Given the description of an element on the screen output the (x, y) to click on. 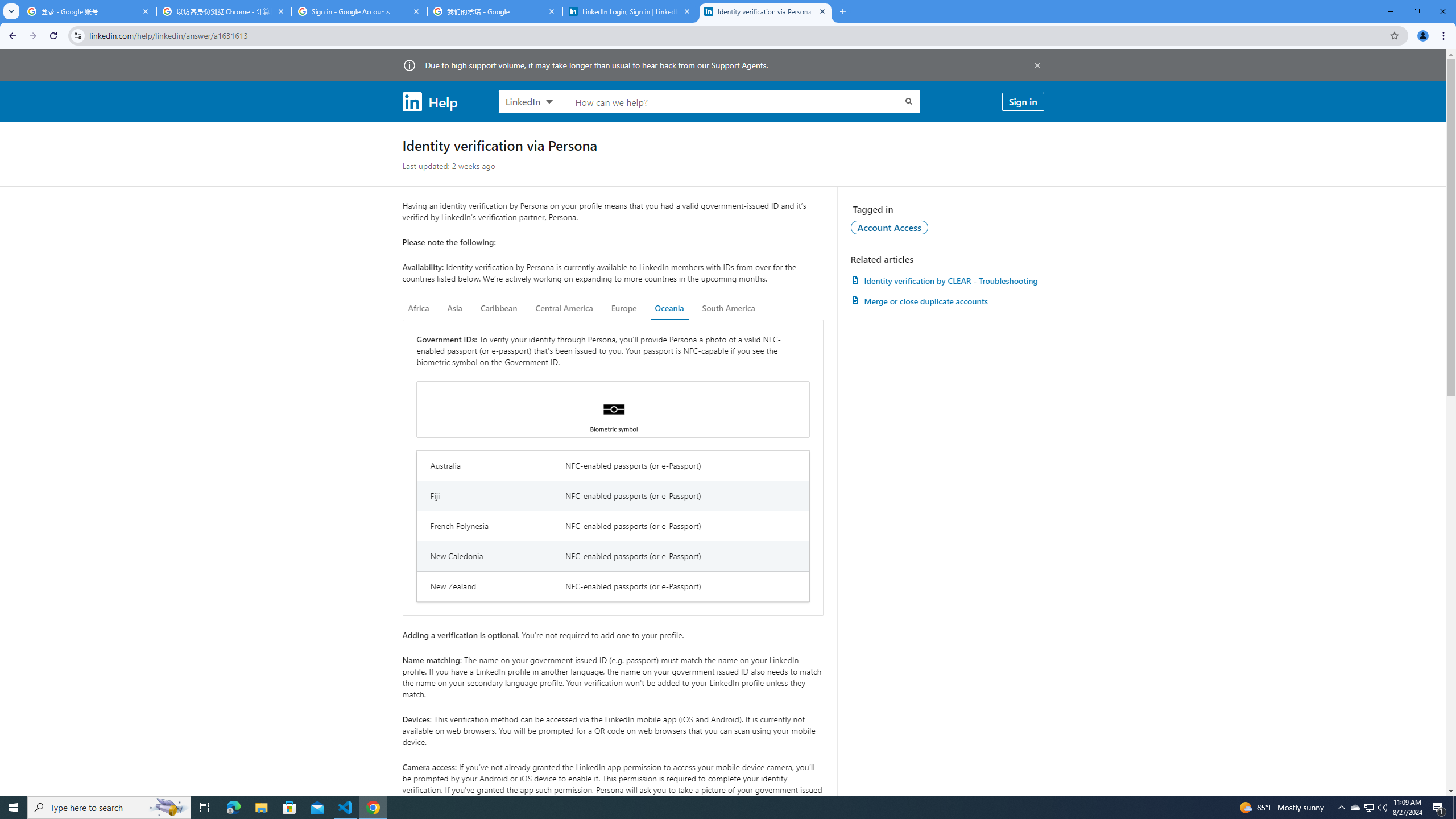
LinkedIn products to search, LinkedIn selected (530, 101)
Biometric symbol (612, 409)
Submit search (908, 101)
Asia (454, 308)
South America (728, 308)
Identity verification via Persona | LinkedIn Help (765, 11)
Central America (563, 308)
Oceania (668, 308)
